Given the description of an element on the screen output the (x, y) to click on. 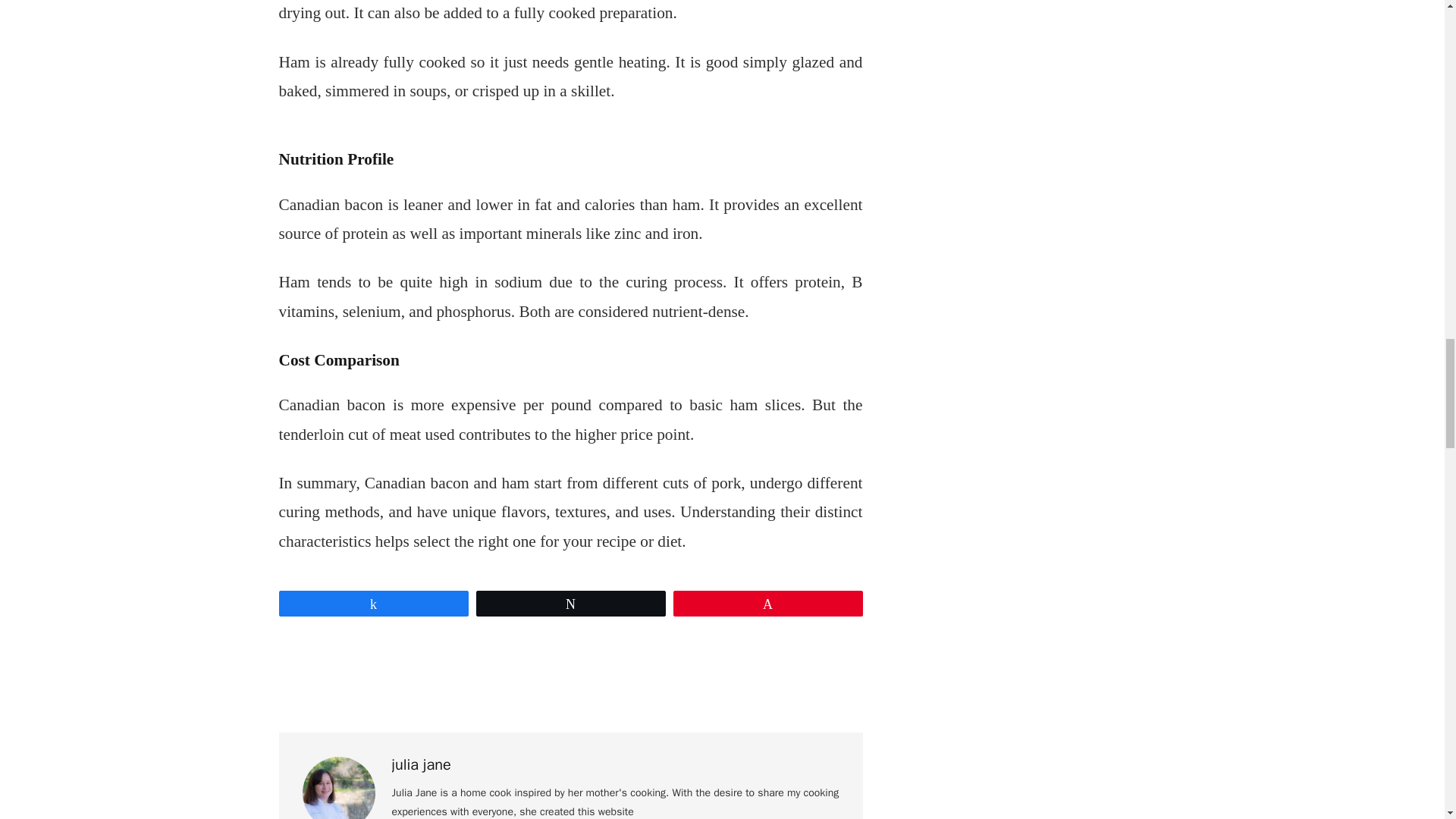
julia jane (420, 764)
